Given the description of an element on the screen output the (x, y) to click on. 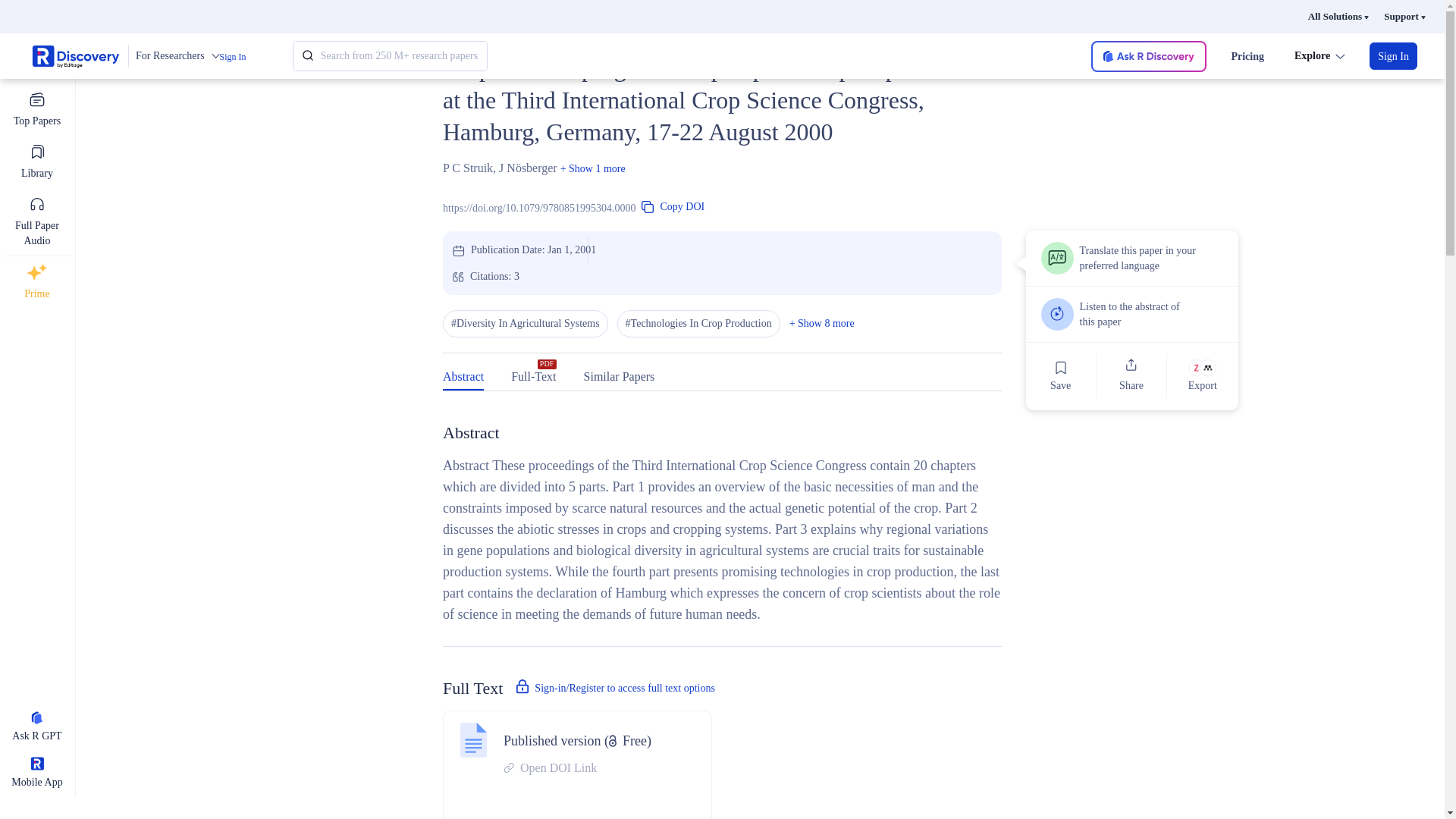
Full Paper Audio (36, 221)
Diversity In Agricultural Systems (525, 322)
Pricing (1246, 56)
All Solutions (1337, 16)
Open DOI Link (576, 767)
Prime (36, 282)
Library (36, 161)
Top Papers (36, 109)
Technologies In Crop Production (698, 322)
Mobile App (36, 773)
Ask R GPT (36, 728)
Sign In (232, 56)
Sign In (1393, 55)
Support (1404, 16)
